Given the description of an element on the screen output the (x, y) to click on. 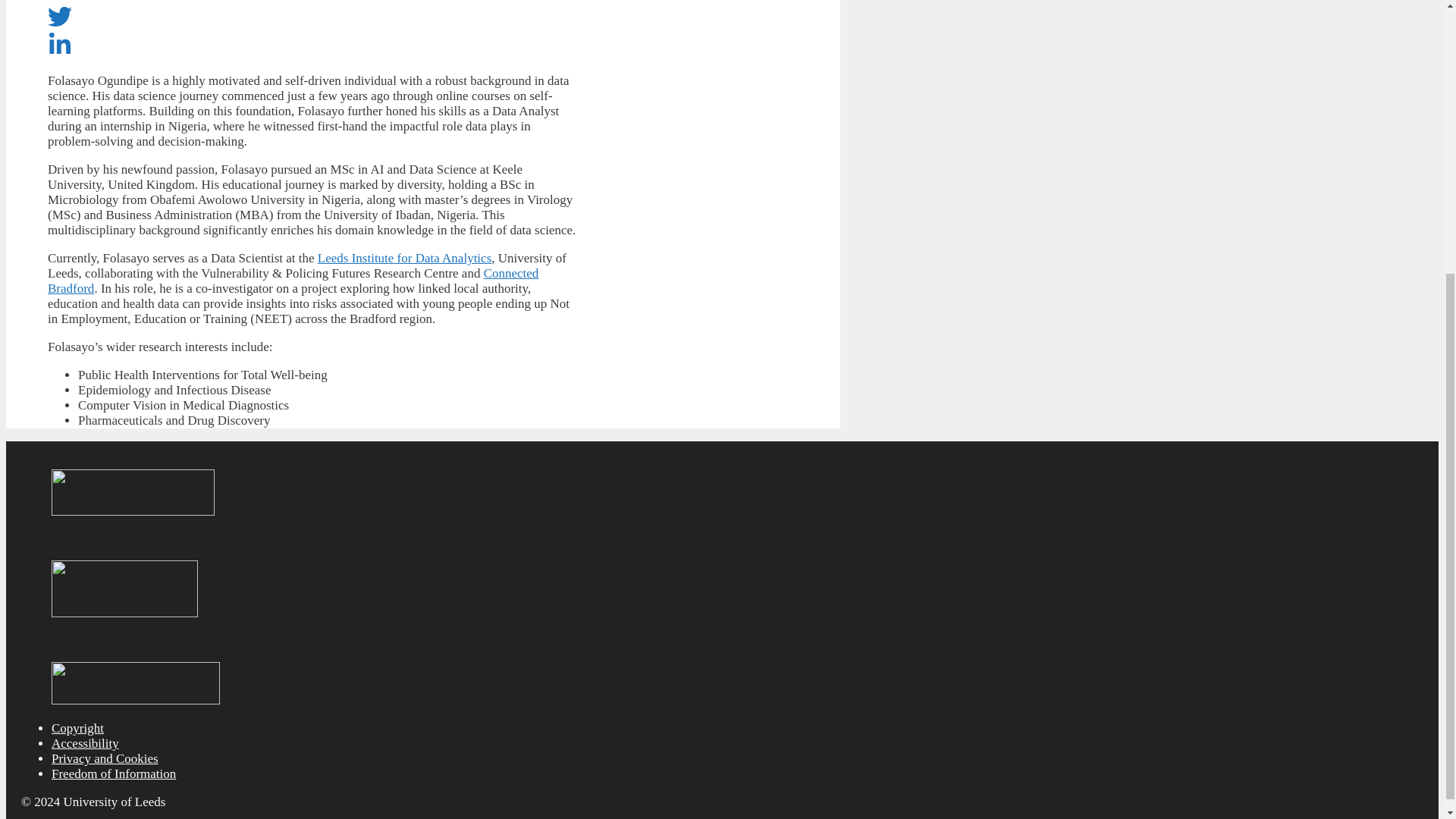
Privacy and Cookies (104, 758)
Accessibility (84, 743)
Copyright (76, 728)
Freedom of Information (113, 773)
Connected Bradford (293, 280)
Leeds Institute for Data Analytics (404, 257)
